Given the description of an element on the screen output the (x, y) to click on. 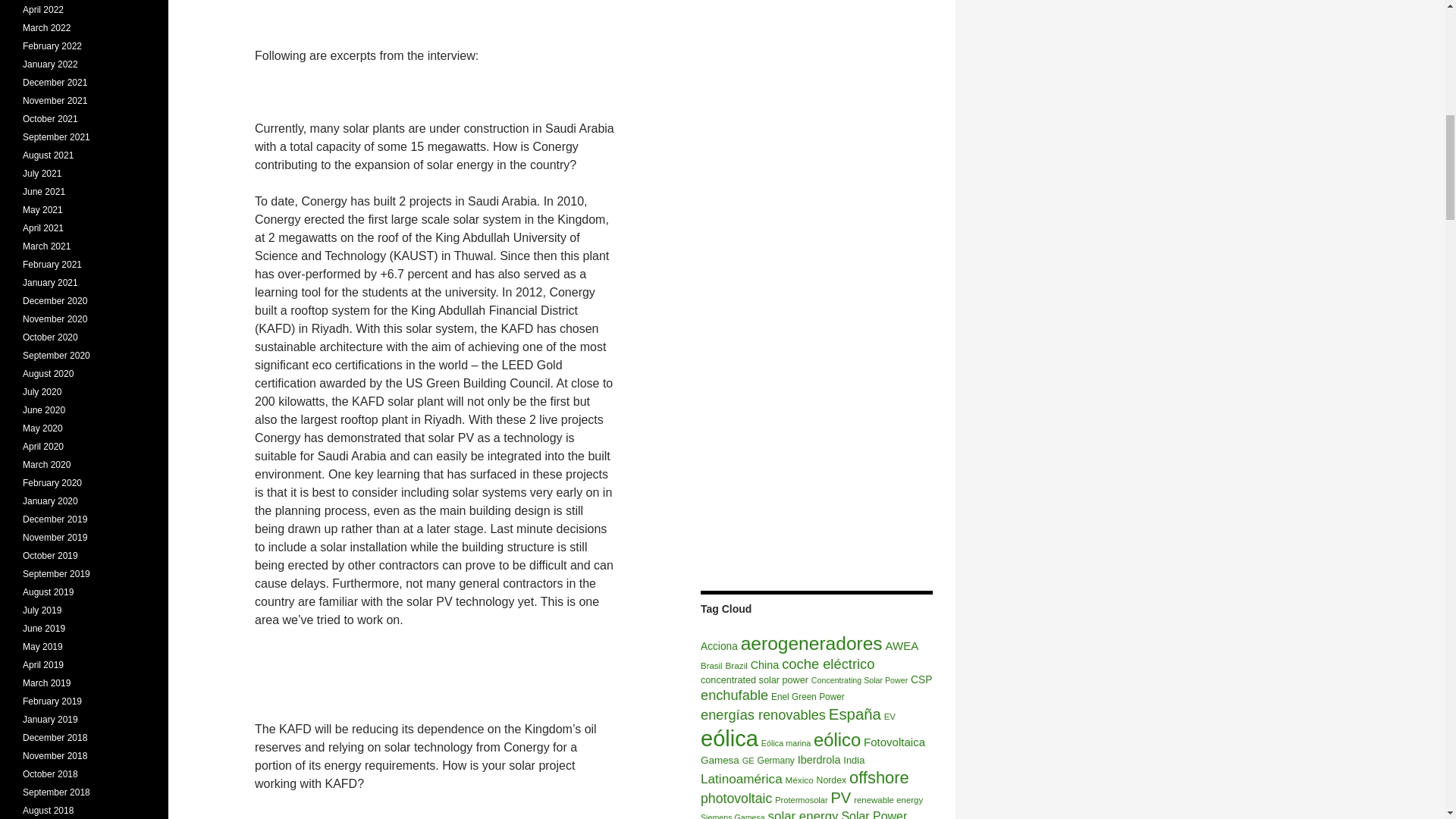
Acciona (719, 645)
Brasil (711, 665)
Brazil (736, 665)
aerogeneradores (811, 643)
AWEA (901, 645)
